Given the description of an element on the screen output the (x, y) to click on. 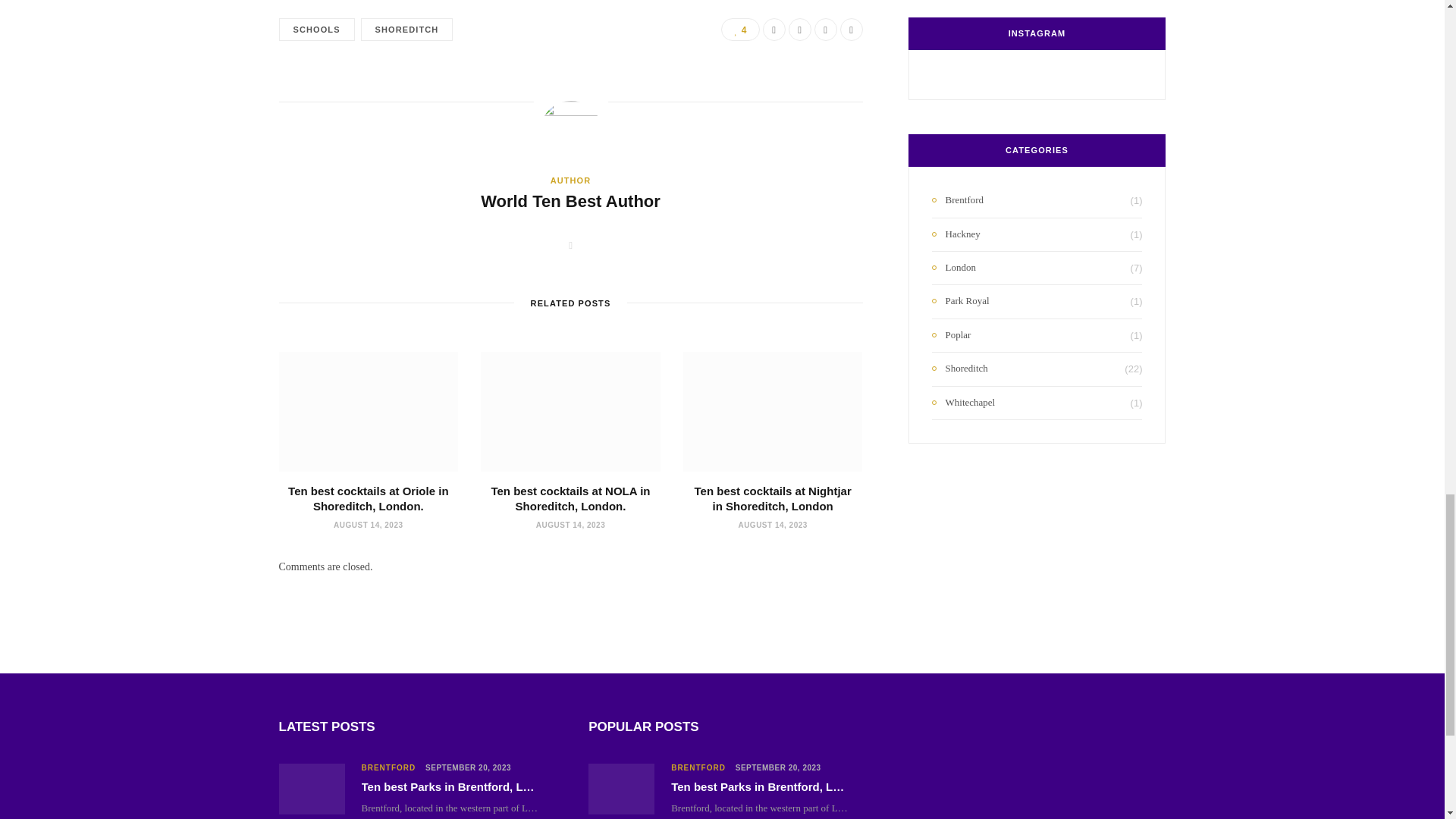
AUGUST 14, 2023 (368, 524)
Ten best cocktails at Oriole in Shoreditch, London. (368, 498)
SCHOOLS (317, 29)
SHOREDITCH (406, 29)
4 (739, 29)
World Ten Best Author (570, 201)
